Given the description of an element on the screen output the (x, y) to click on. 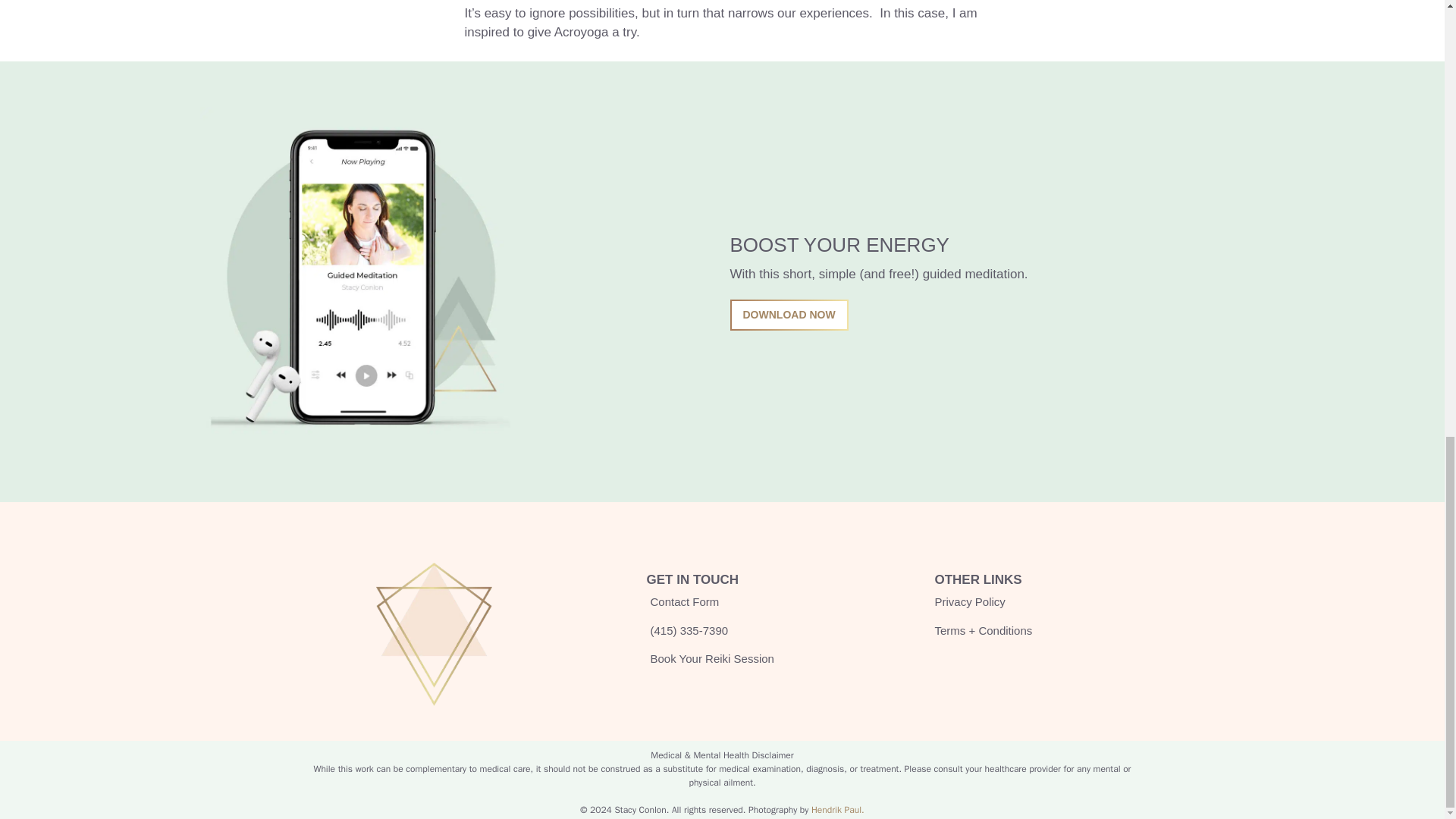
Privacy Policy (969, 601)
Contact Form (682, 601)
DOWNLOAD NOW (788, 314)
Book Your Reiki Session (709, 659)
Hendrik Paul. (837, 809)
